Given the description of an element on the screen output the (x, y) to click on. 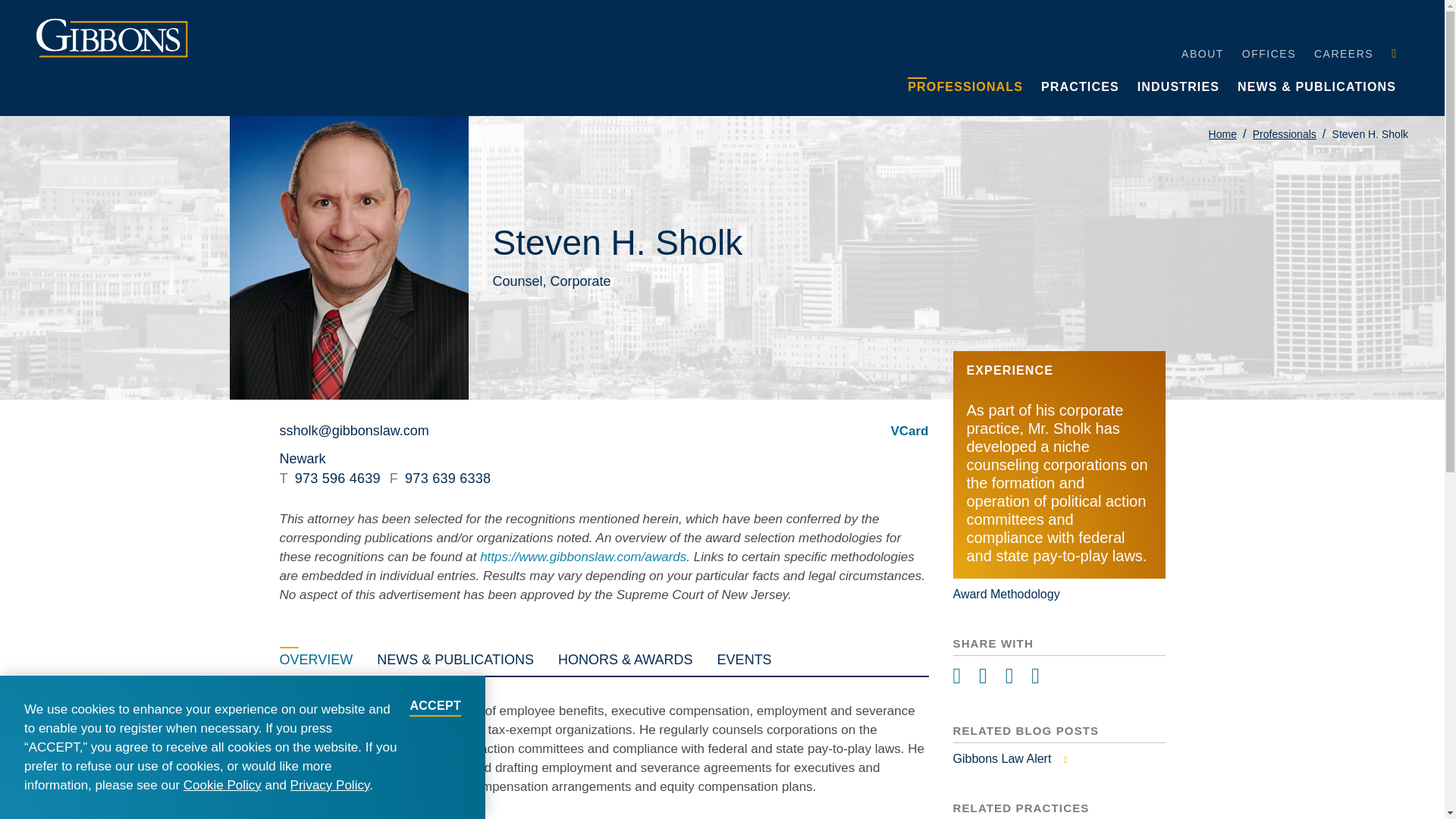
OVERVIEW (315, 656)
INDUSTRIES (1178, 84)
Share With (1058, 676)
Newark (301, 458)
PRACTICES (1080, 84)
CAREERS (1343, 52)
VCard (908, 431)
EVENTS (744, 656)
973 596 4639 (329, 478)
Home (1222, 133)
Related Blog Posts (1058, 758)
Home (1222, 133)
Professionals (1284, 133)
ABOUT (1202, 52)
Professionals (1284, 133)
